Given the description of an element on the screen output the (x, y) to click on. 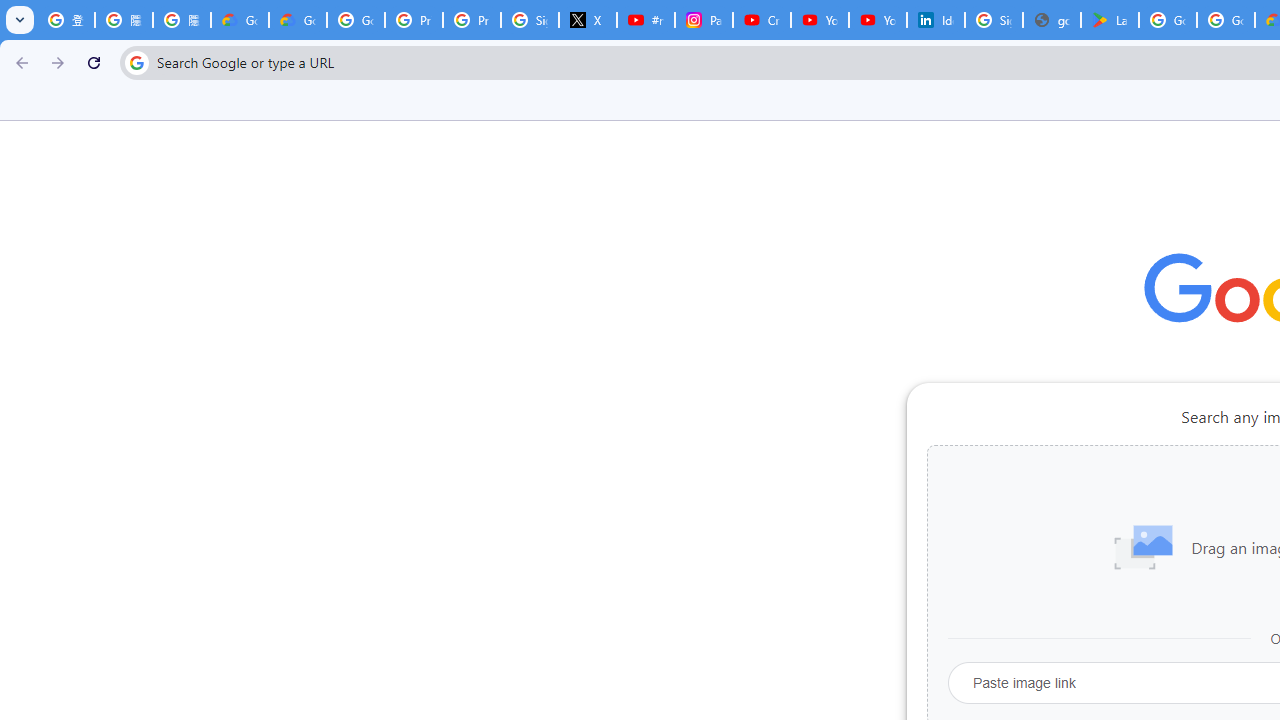
Google Cloud Privacy Notice (239, 20)
YouTube Culture & Trends - YouTube Top 10, 2021 (877, 20)
Privacy Help Center - Policies Help (471, 20)
Sign in - Google Accounts (529, 20)
Identity verification via Persona | LinkedIn Help (936, 20)
Google Workspace - Specific Terms (1225, 20)
